Given the description of an element on the screen output the (x, y) to click on. 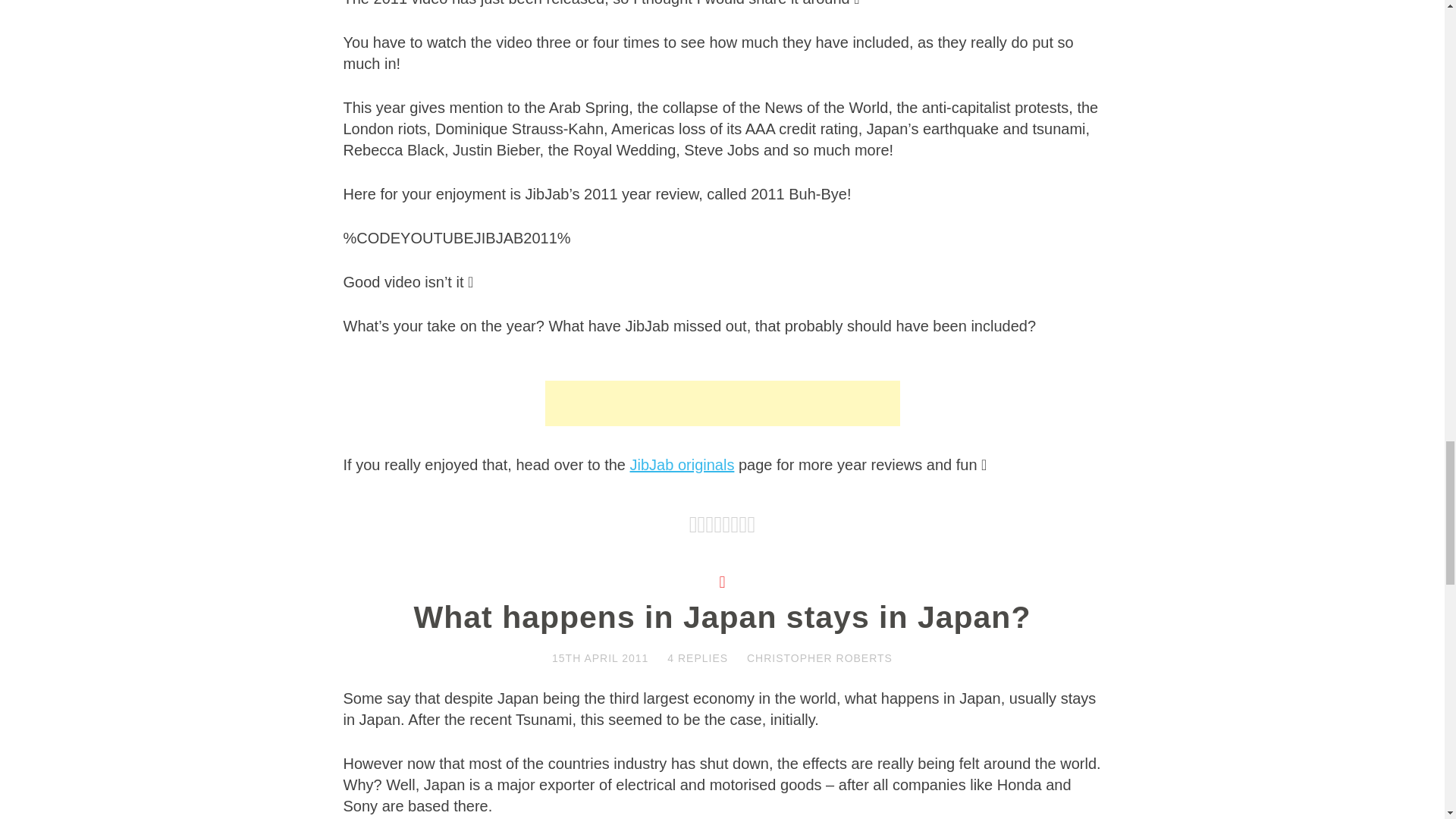
15TH APRIL 2011 (599, 657)
CHRISTOPHER ROBERTS (819, 657)
JibJab originals (682, 464)
What happens in Japan stays in Japan? (721, 616)
4 REPLIES (697, 657)
